Given the description of an element on the screen output the (x, y) to click on. 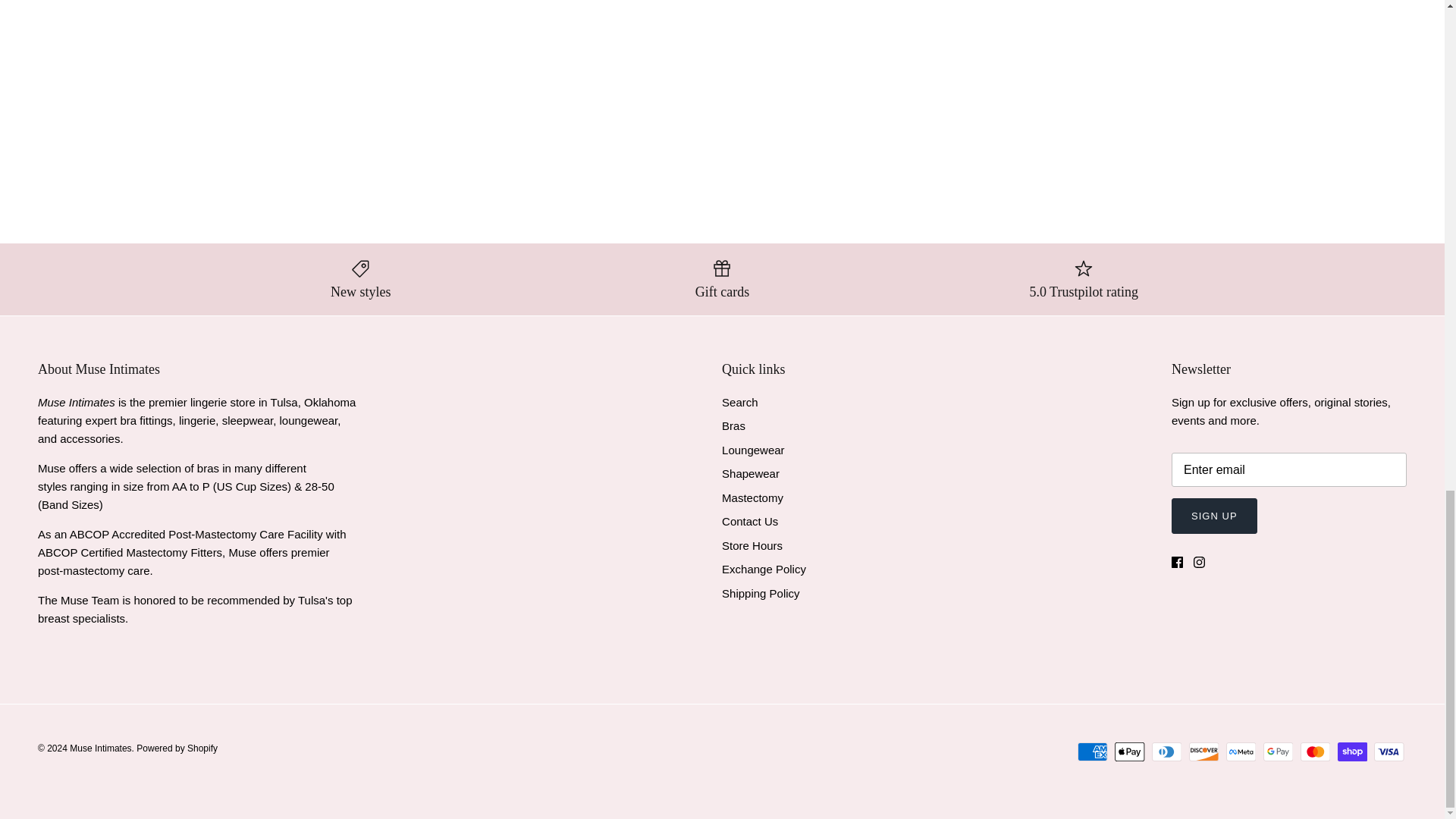
Facebook (1177, 562)
American Express (1092, 751)
Instagram (1199, 562)
Apple Pay (1129, 751)
Discover (1203, 751)
Diners Club (1166, 751)
